Given the description of an element on the screen output the (x, y) to click on. 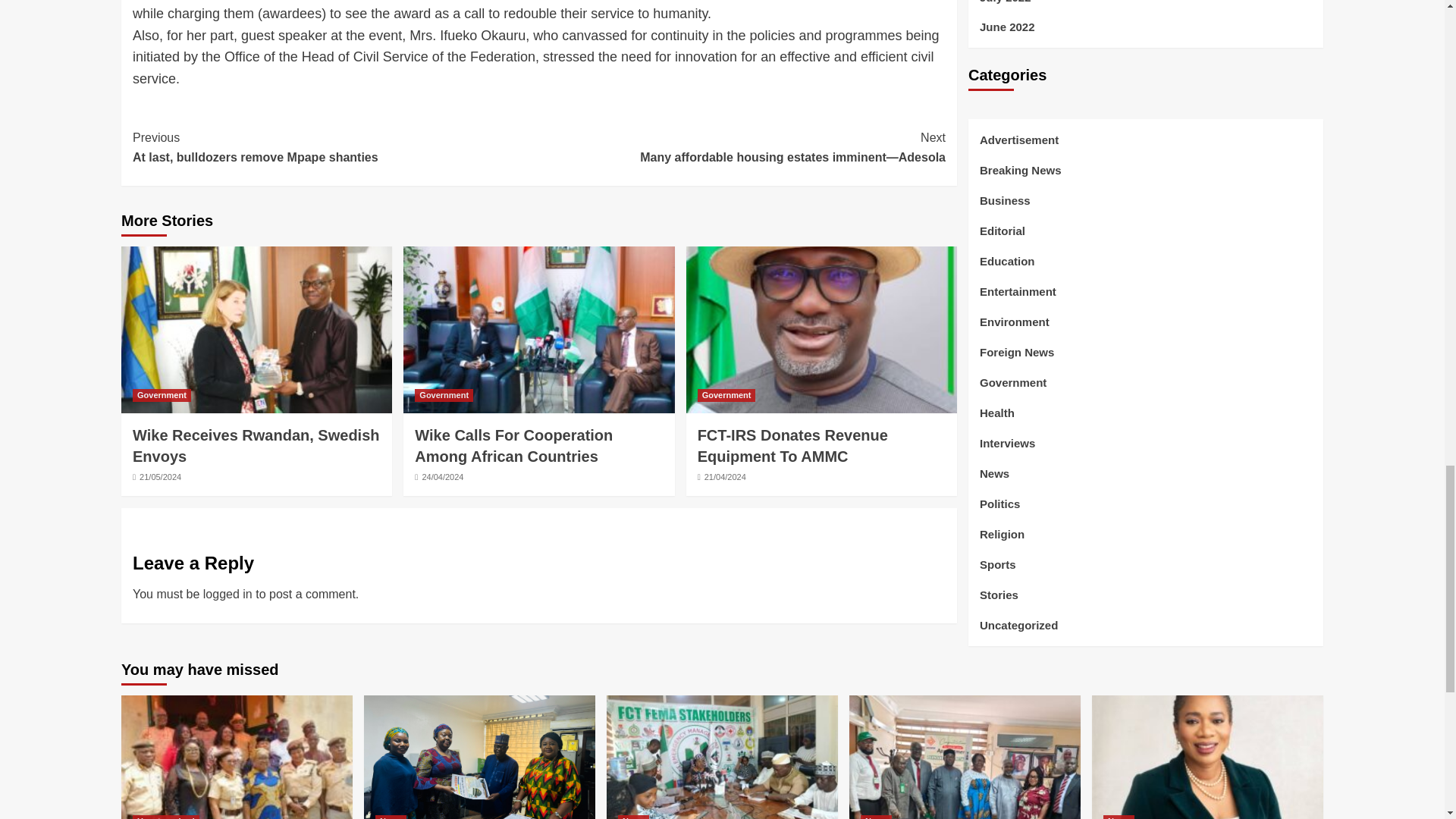
Government (161, 395)
Wike Receives Rwandan, Swedish Envoys (335, 147)
FCT-IRS Donates Revenue Equipment To AMMC (256, 445)
logged in (792, 445)
Government (227, 594)
Wike Calls For Cooperation Among African Countries (726, 395)
Government (513, 445)
